Given the description of an element on the screen output the (x, y) to click on. 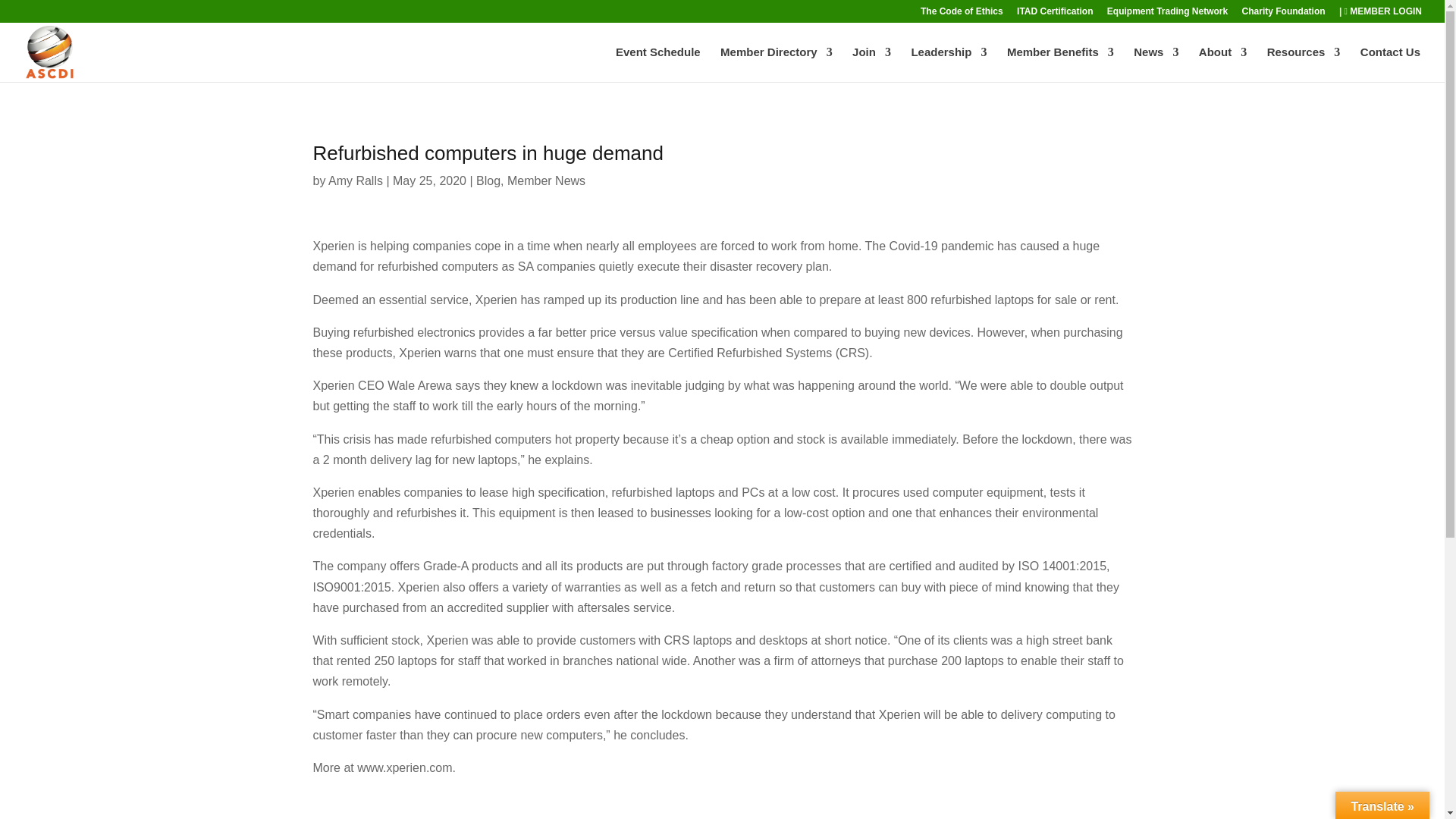
Charity Foundation (1282, 14)
ITAD Certification (1054, 14)
Member Directory (776, 63)
Posts by Amy Ralls (355, 180)
Leadership (949, 63)
Event Schedule (657, 63)
The Code of Ethics (961, 14)
Join (871, 63)
Member Benefits (1060, 63)
Equipment Trading Network (1166, 14)
